Given the description of an element on the screen output the (x, y) to click on. 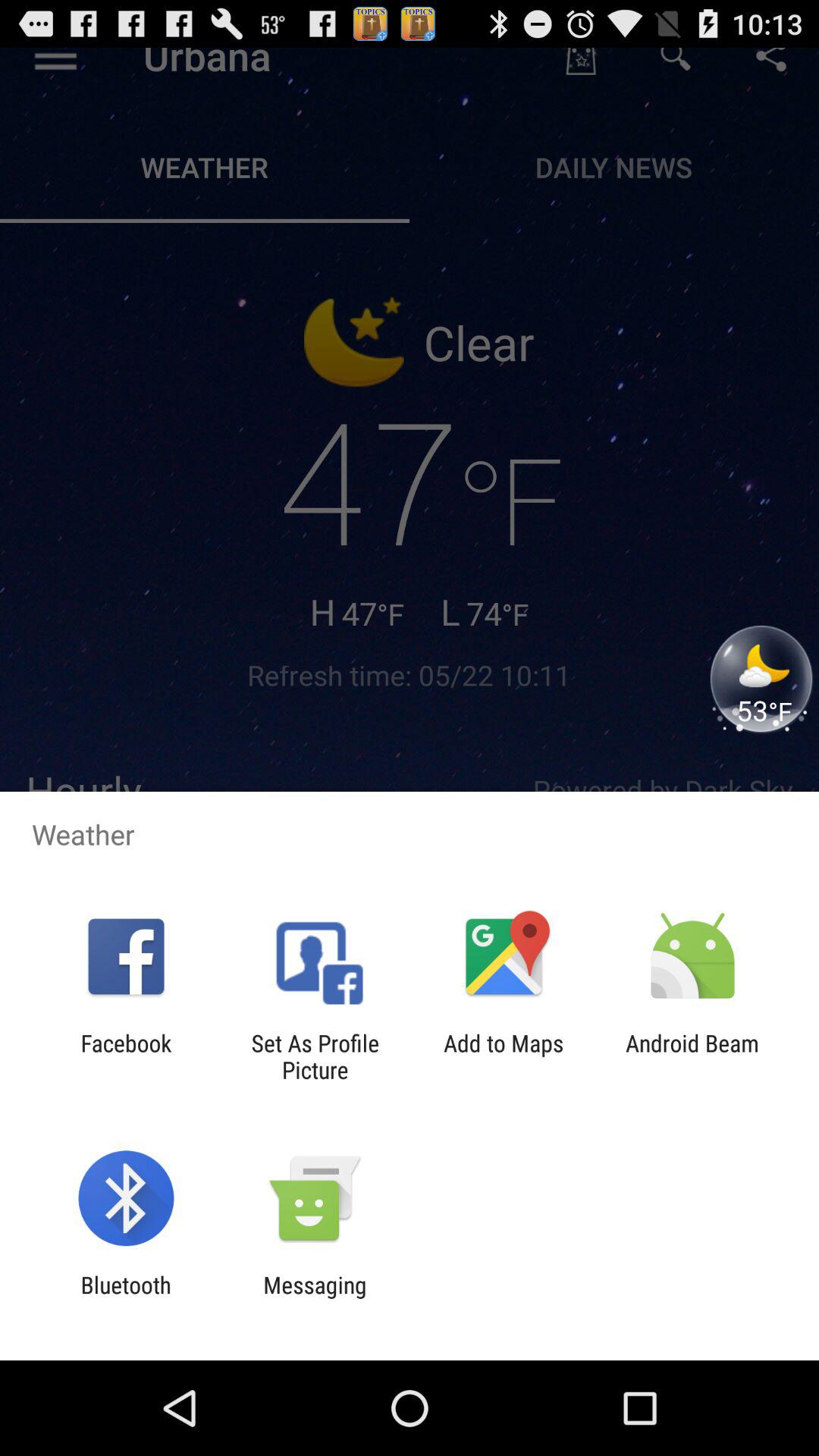
open the bluetooth item (125, 1298)
